Given the description of an element on the screen output the (x, y) to click on. 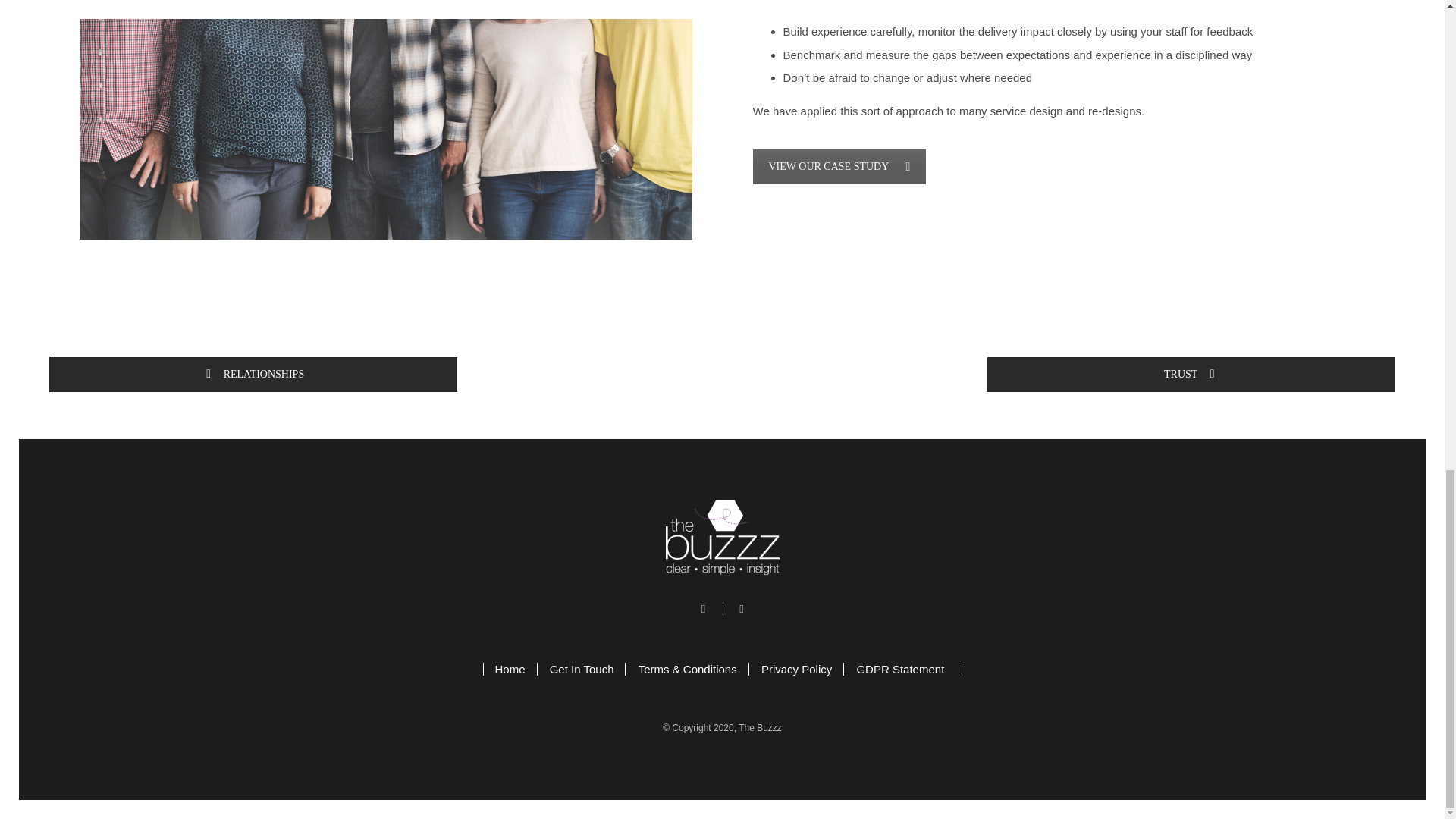
Privacy Policy (796, 668)
Home (510, 668)
GDPR Statement  (901, 668)
Get In Touch (582, 668)
VIEW OUR CASE STUDY (839, 166)
TRUST (1190, 374)
RELATIONSHIPS (253, 374)
